Given the description of an element on the screen output the (x, y) to click on. 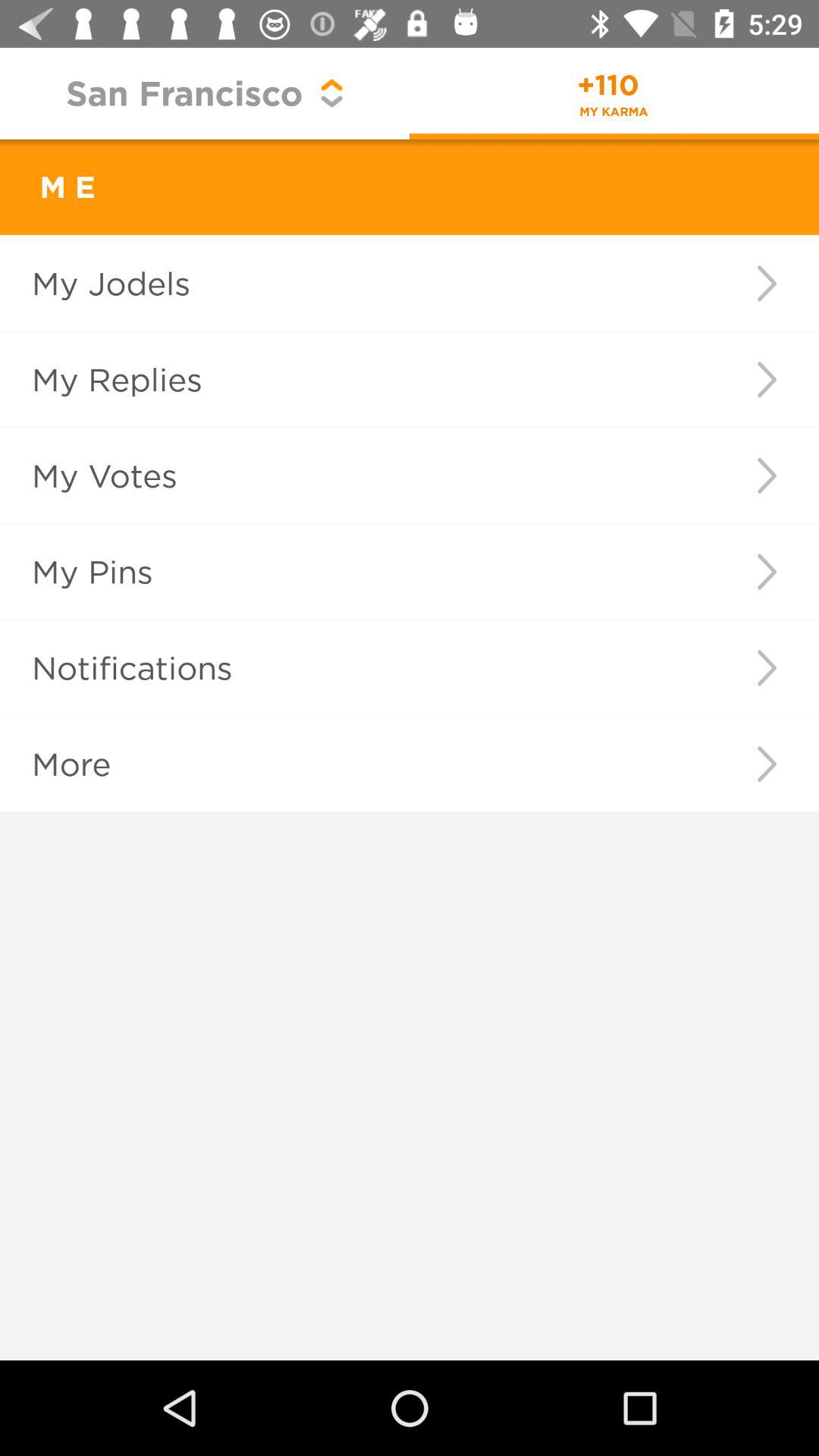
choose item to the right of the notifications icon (766, 667)
